Given the description of an element on the screen output the (x, y) to click on. 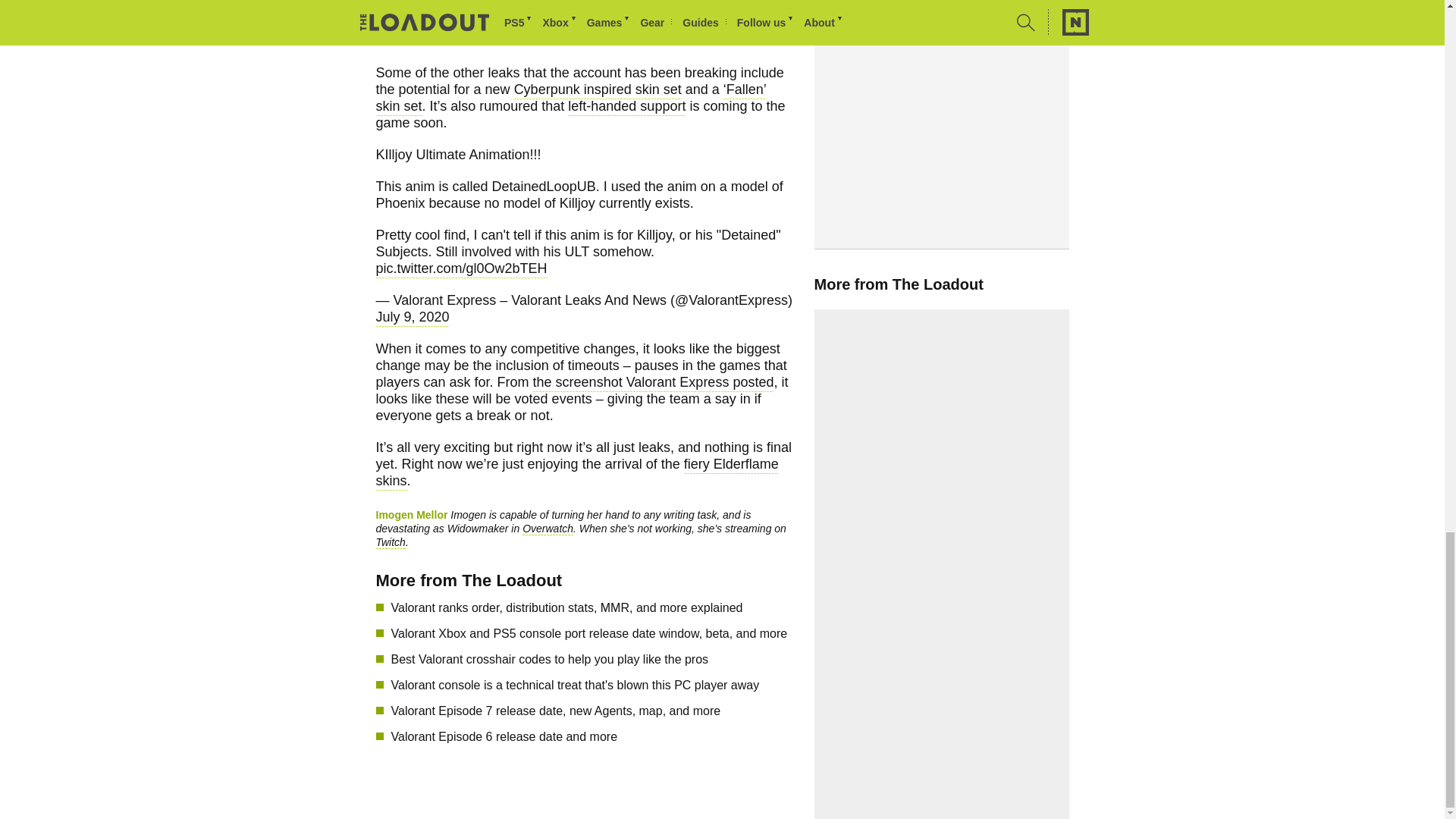
Best Valorant crosshair codes to help you play like the pros (729, 659)
